Given the description of an element on the screen output the (x, y) to click on. 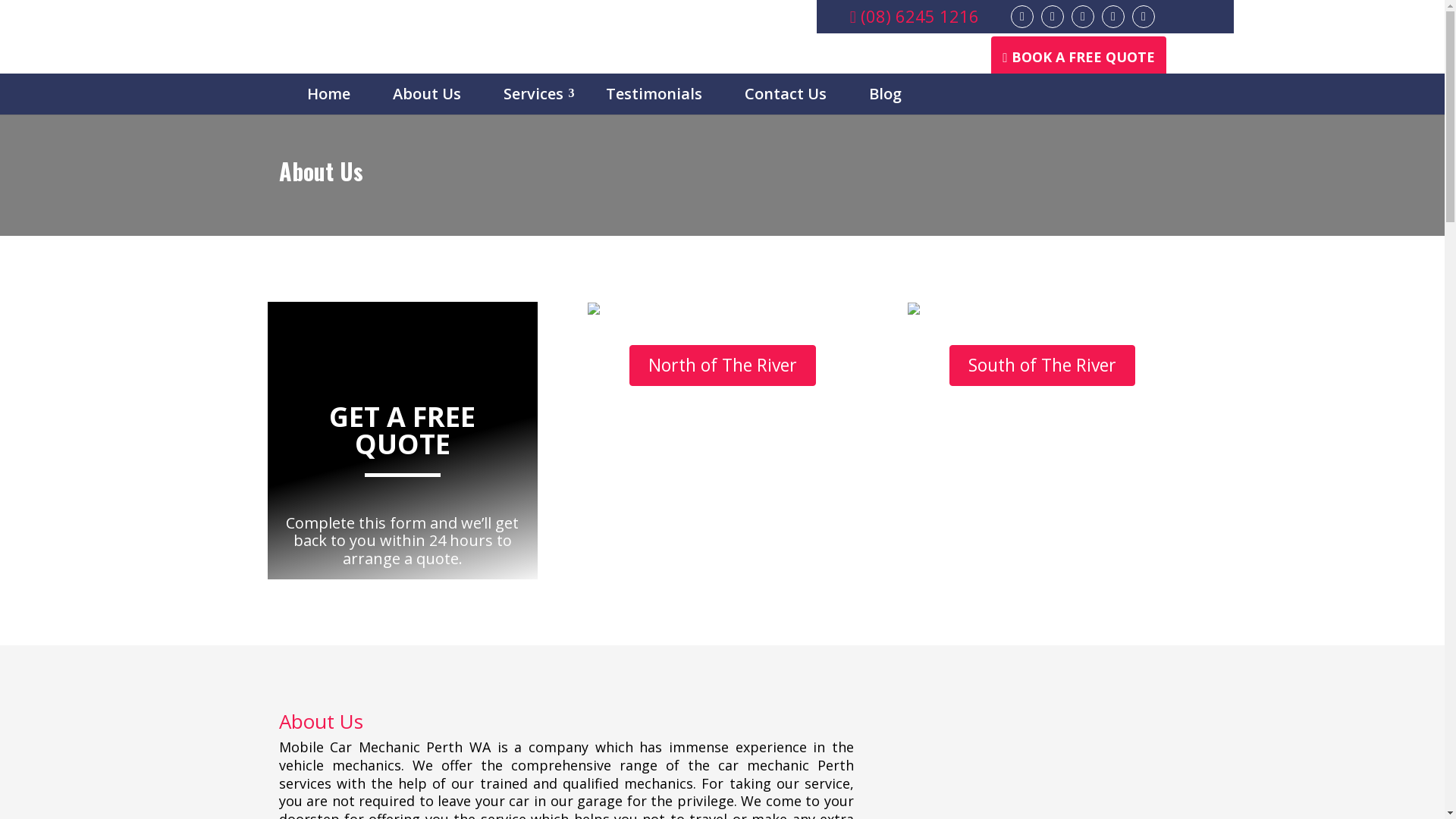
About Us Element type: text (425, 93)
Contact Us Element type: text (784, 93)
South of The River Element type: text (1042, 365)
Home Element type: text (328, 93)
 (08) 6245 1216 Element type: text (914, 17)
Services Element type: text (532, 93)
BOOK A FREE QUOTE Element type: text (1078, 56)
North of The River Element type: text (722, 365)
Testimonials Element type: text (653, 93)
Blog Element type: text (884, 93)
